Given the description of an element on the screen output the (x, y) to click on. 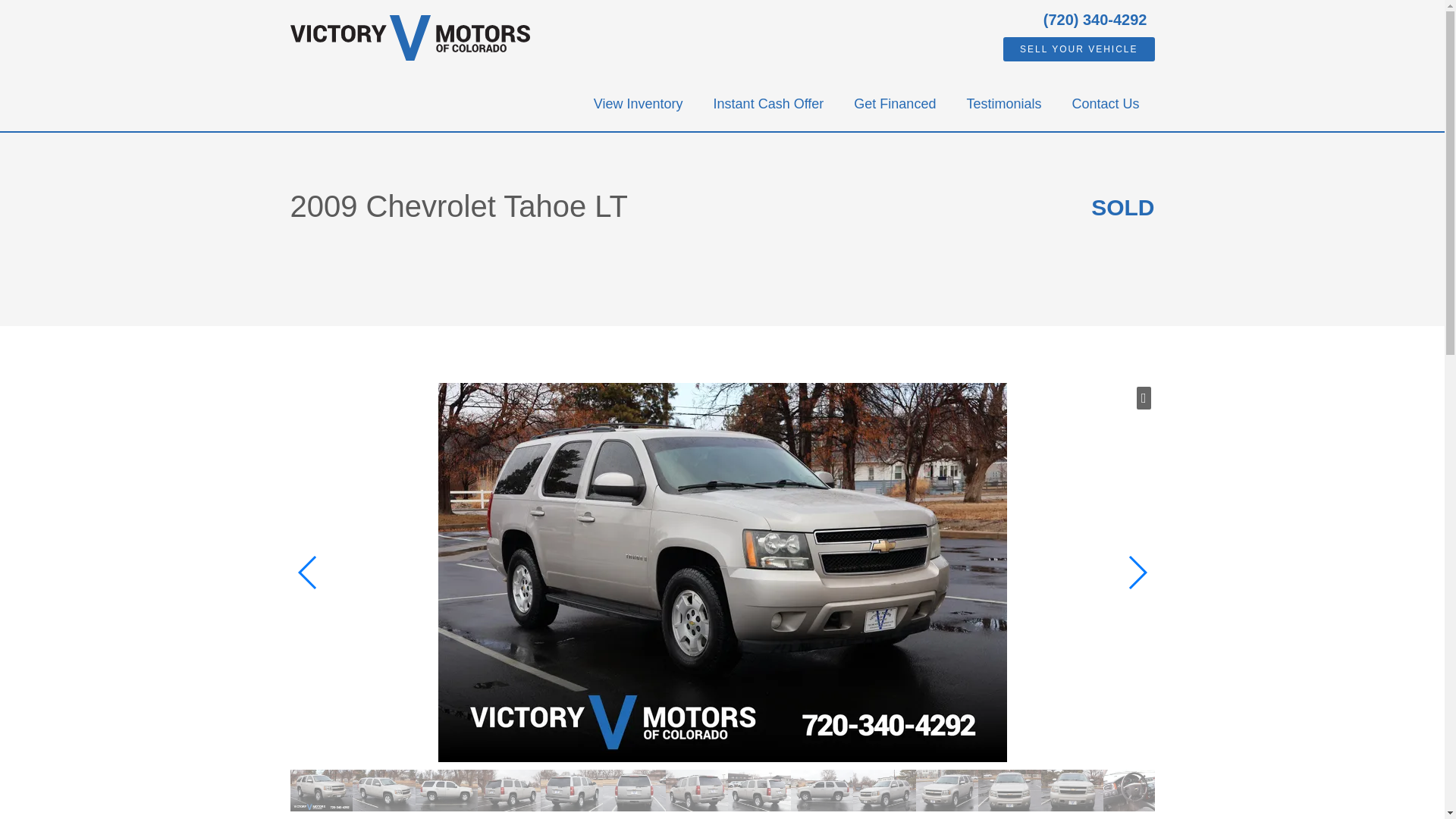
Get Financed (894, 104)
SELL YOUR VEHICLE (1078, 48)
View Inventory (638, 104)
Contact Us (1105, 104)
Instant Cash Offer (769, 104)
Testimonials (1003, 104)
